Given the description of an element on the screen output the (x, y) to click on. 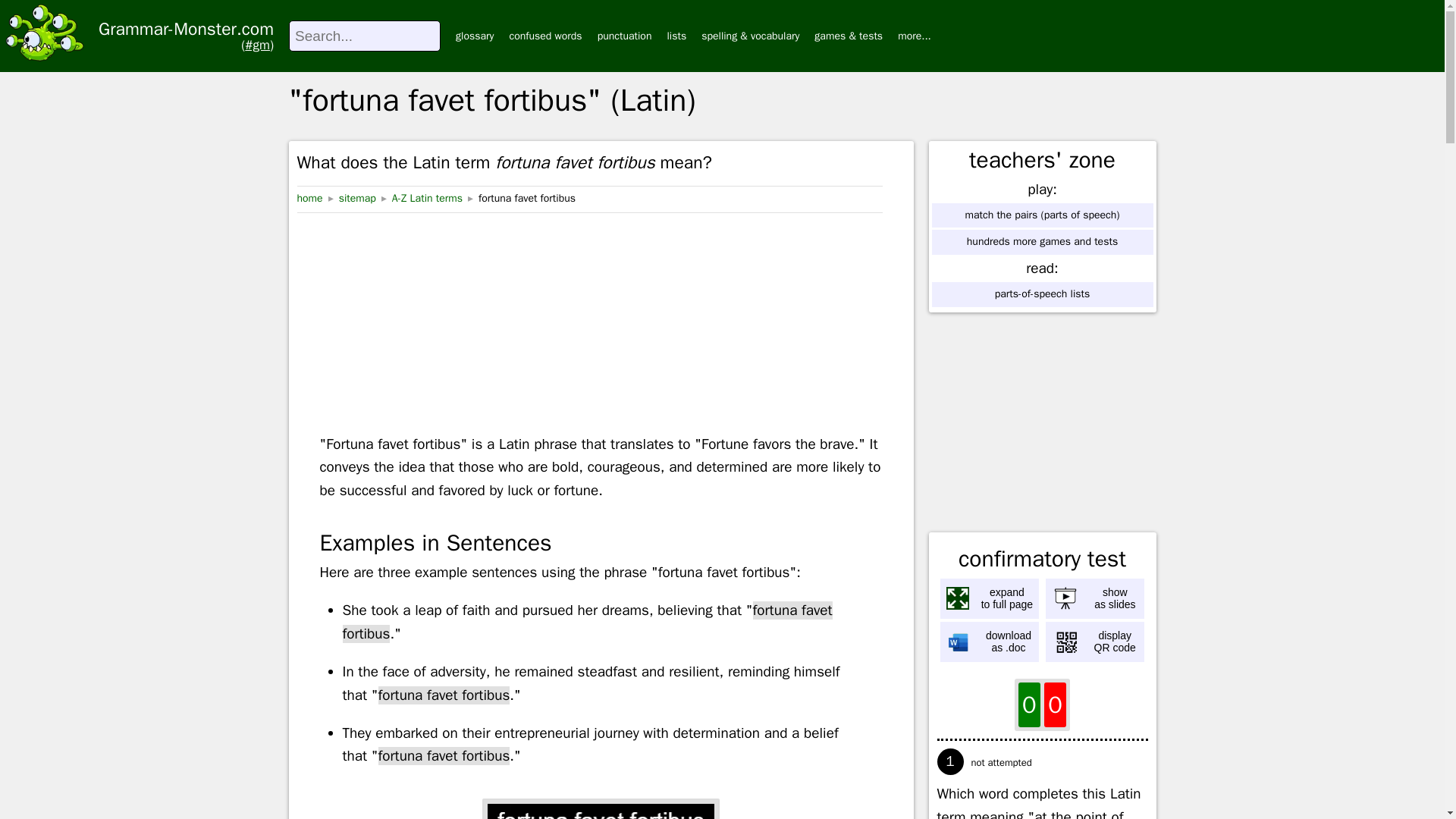
hundreds more games and tests (1042, 241)
sitemap (357, 198)
confused words (544, 35)
punctuation (624, 35)
A-Z Latin terms (427, 198)
lists (989, 598)
home (989, 641)
more... (1094, 641)
Grammar-Monster.com (675, 35)
parts-of-speech lists (310, 198)
glossary (914, 35)
